Given the description of an element on the screen output the (x, y) to click on. 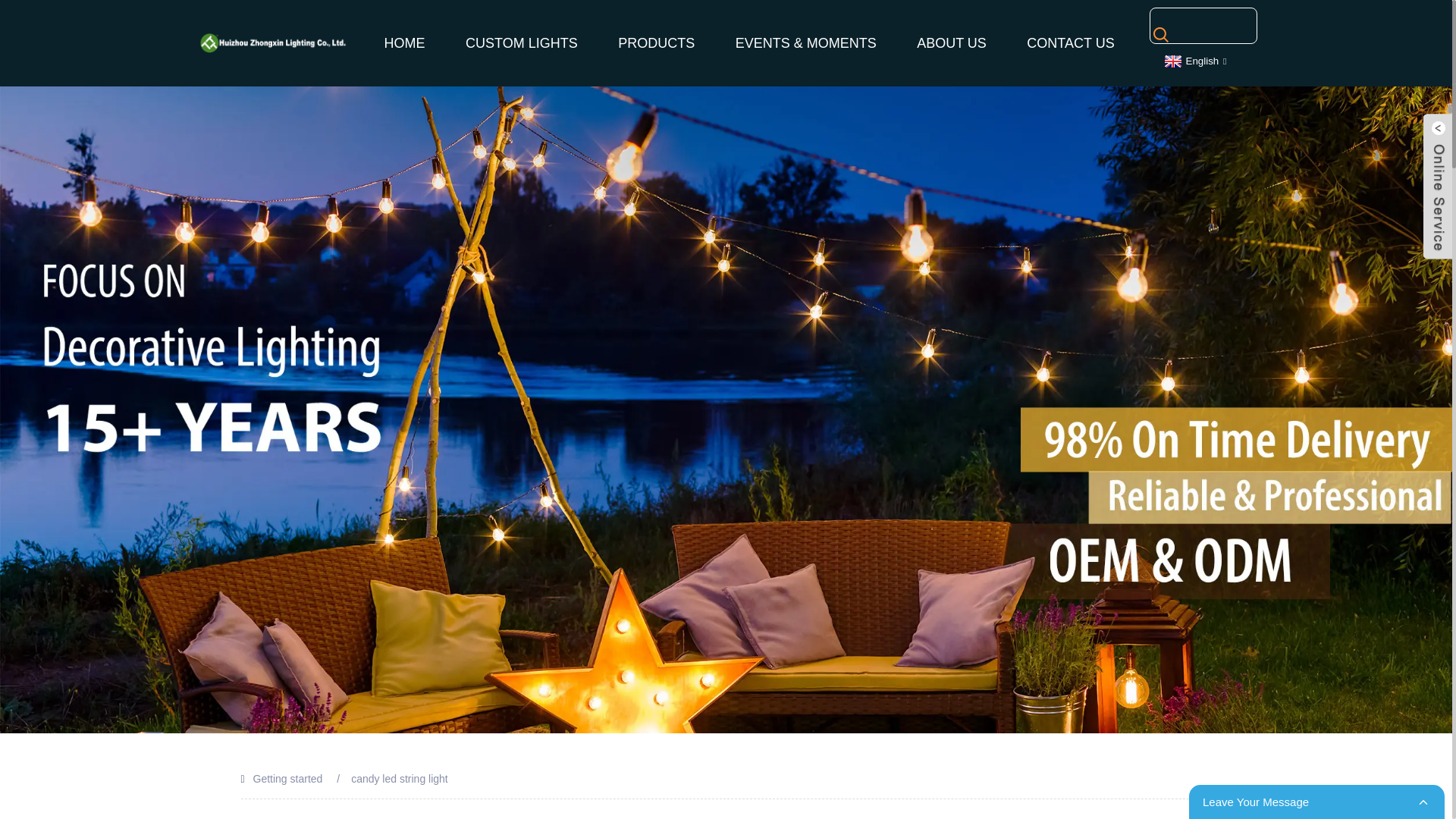
CUSTOM LIGHTS (520, 43)
HOME (405, 43)
PRODUCTS (656, 43)
